Given the description of an element on the screen output the (x, y) to click on. 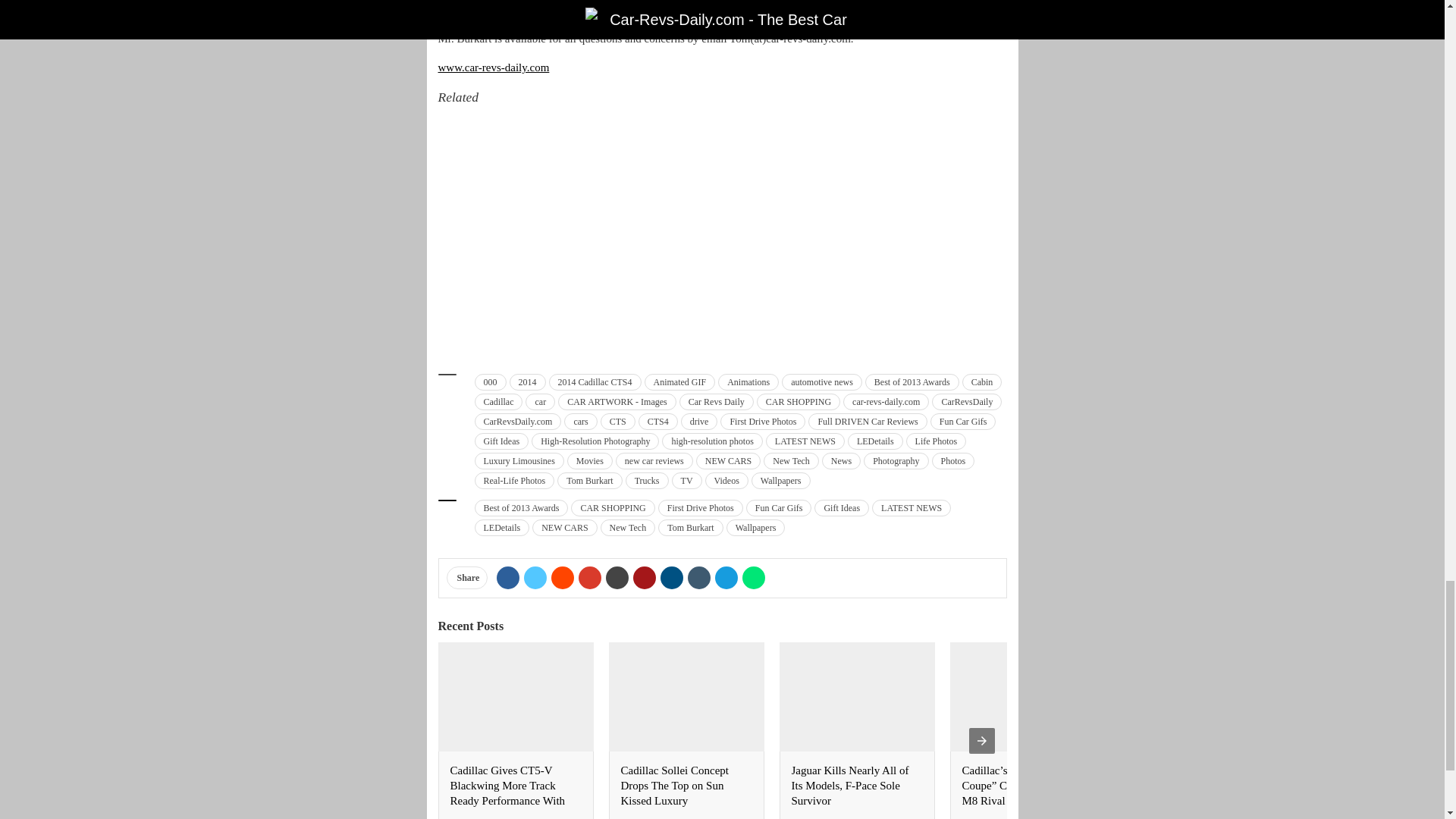
Animations (747, 381)
automotive news (821, 381)
Next item in carousel (981, 740)
Animated GIF (680, 381)
www.car-revs-daily.com (494, 67)
000 (490, 381)
2014 (527, 381)
2014 Cadillac CTS4 (595, 381)
